Given the description of an element on the screen output the (x, y) to click on. 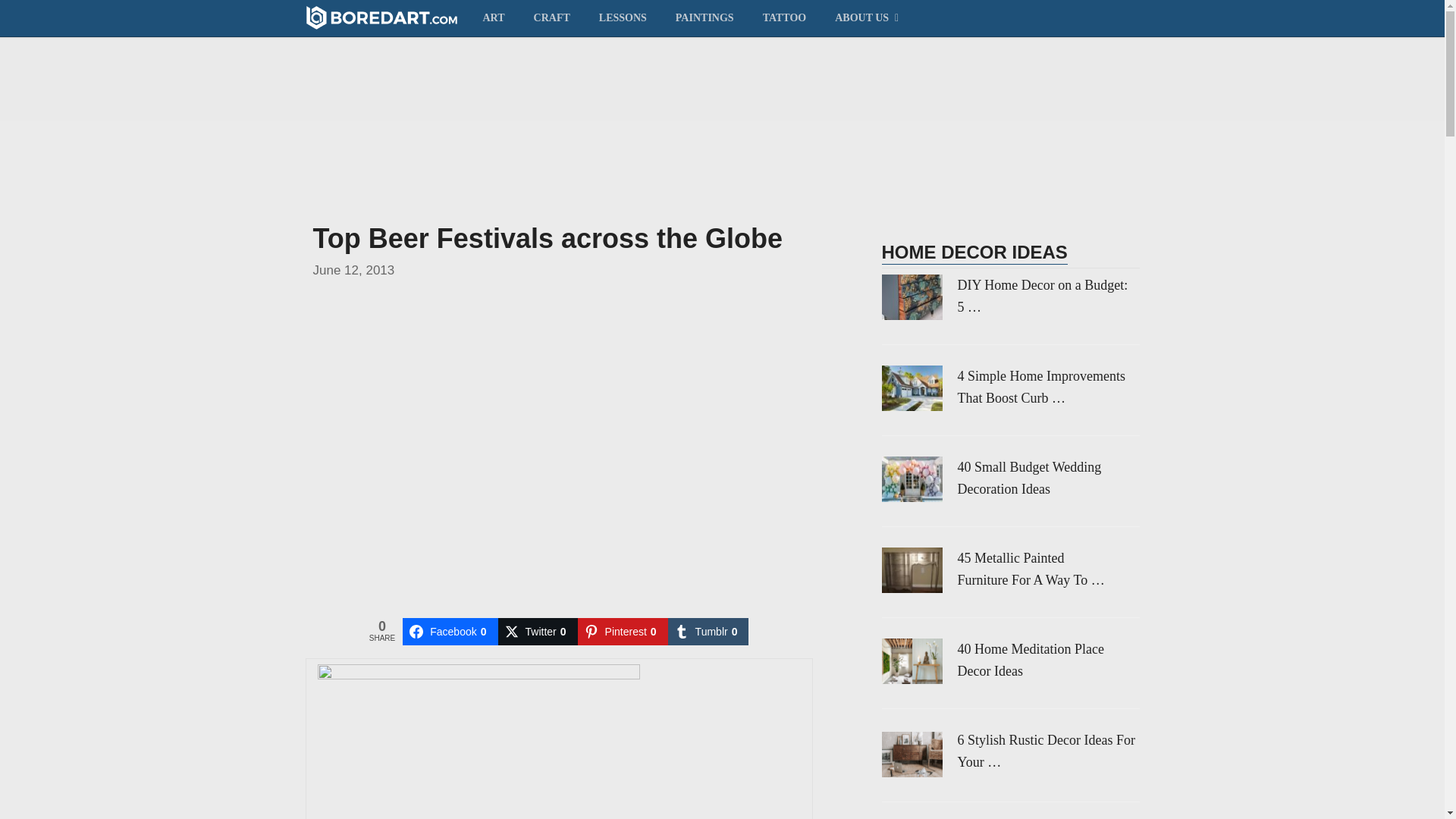
40 Small Budget Wedding Decoration Ideas (1009, 478)
LESSONS (623, 18)
Share on Tumblr (708, 631)
PAINTINGS (704, 18)
CRAFT (552, 18)
Pinterest0 (623, 631)
Share on Facebook (450, 631)
Share on Pinterest (623, 631)
ABOUT US (864, 18)
Tumblr0 (708, 631)
